Given the description of an element on the screen output the (x, y) to click on. 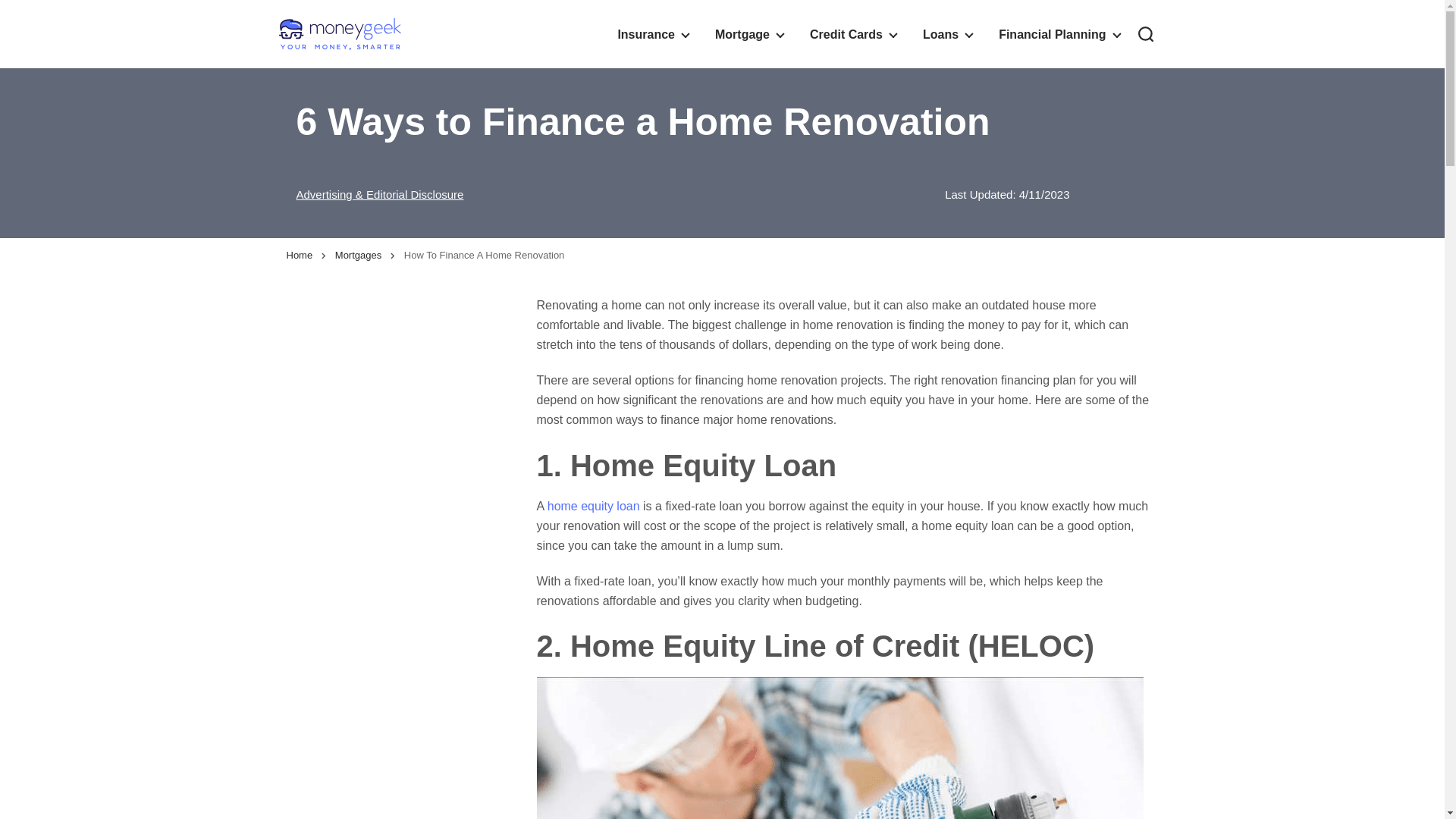
Credit Cards (852, 33)
Financial Planning (1058, 33)
Loans (946, 33)
Mortgage (748, 33)
Insurance (652, 33)
